Given the description of an element on the screen output the (x, y) to click on. 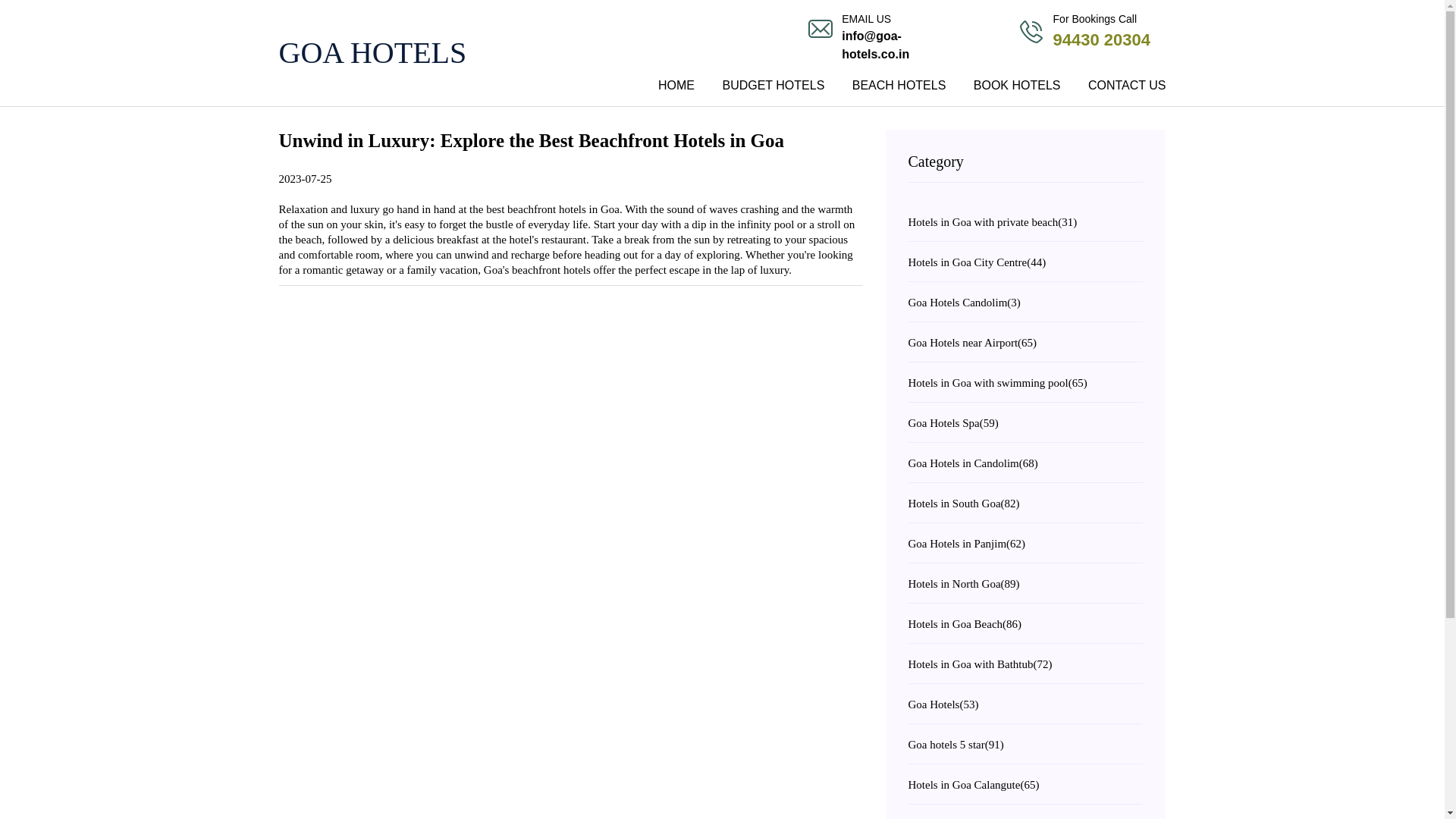
HOME (676, 88)
CONTACT US (1120, 88)
94430 20304 (1101, 39)
GOA HOTELS (419, 53)
BUDGET HOTELS (772, 88)
BOOK HOTELS (1016, 88)
BEACH HOTELS (899, 88)
